Given the description of an element on the screen output the (x, y) to click on. 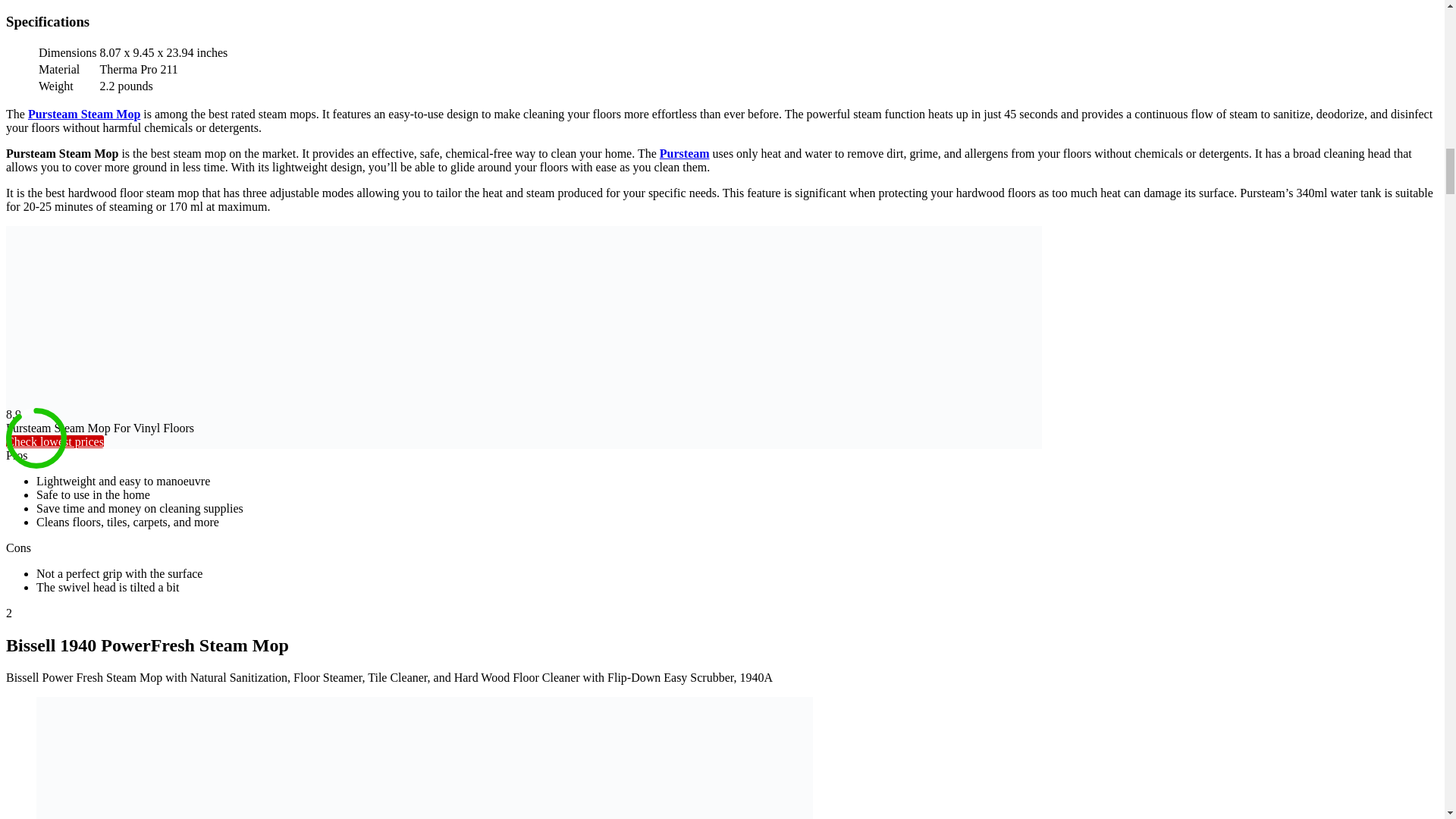
Check lowest prices (54, 440)
Pursteam (684, 153)
Pursteam Steam Mop (83, 113)
